Given the description of an element on the screen output the (x, y) to click on. 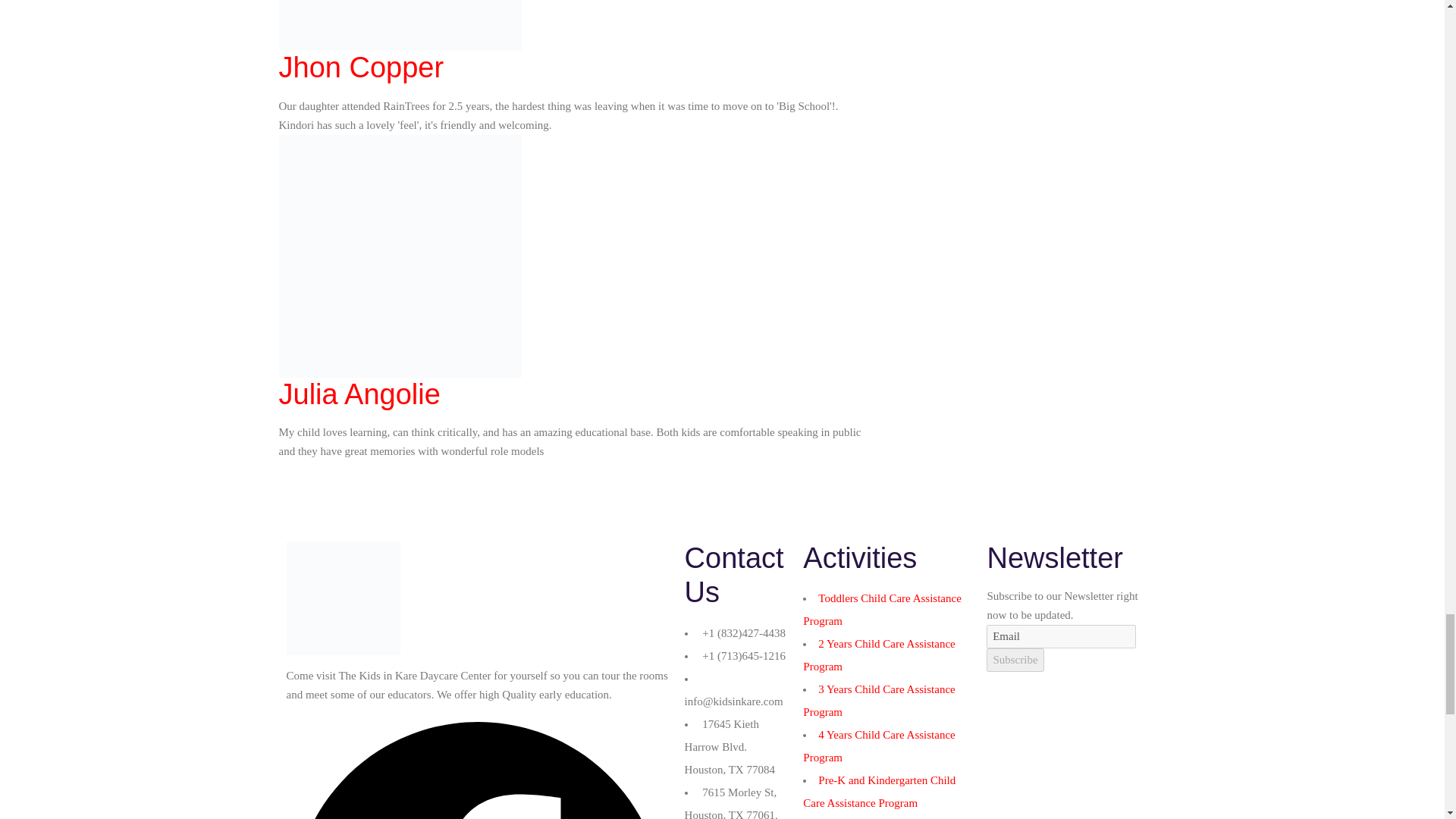
Subscribe (1015, 659)
